Given the description of an element on the screen output the (x, y) to click on. 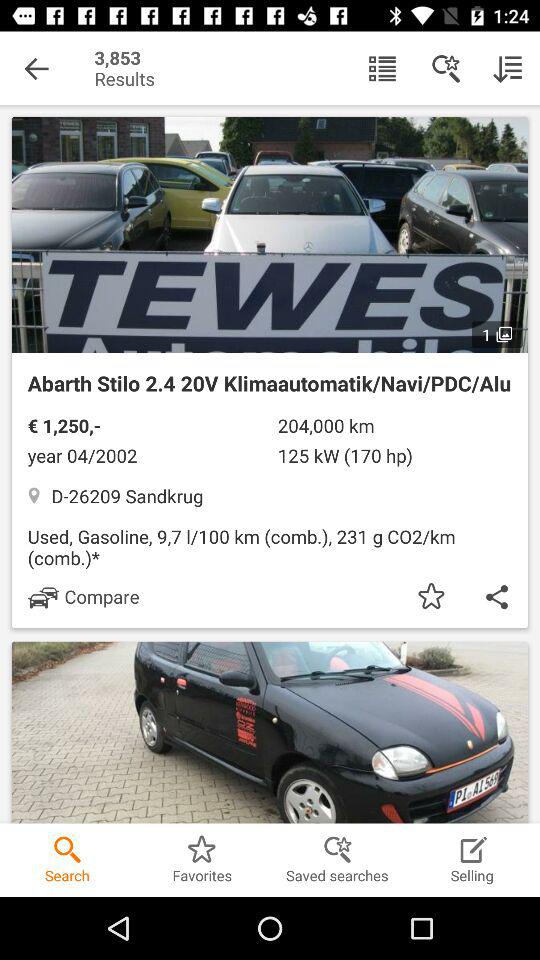
choose the item to the left of the 3,853 (36, 68)
